Given the description of an element on the screen output the (x, y) to click on. 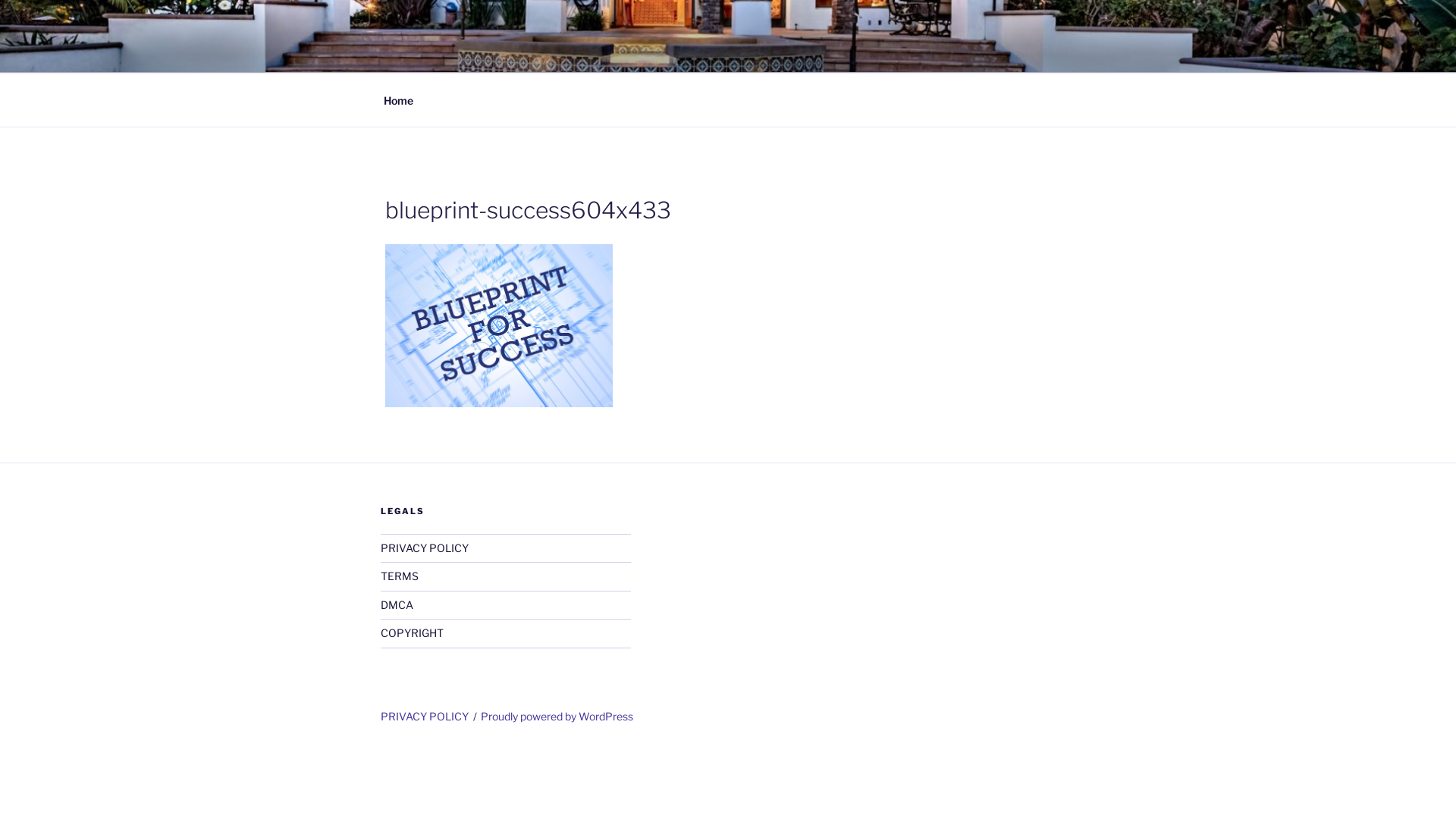
$3K A MONTH BLUEPRINT DOT COM Element type: text (667, 52)
Home Element type: text (398, 100)
Proudly powered by WordPress Element type: text (556, 715)
TERMS Element type: text (399, 575)
DMCA Element type: text (396, 604)
PRIVACY POLICY Element type: text (424, 547)
PRIVACY POLICY Element type: text (424, 715)
COPYRIGHT Element type: text (411, 632)
